Given the description of an element on the screen output the (x, y) to click on. 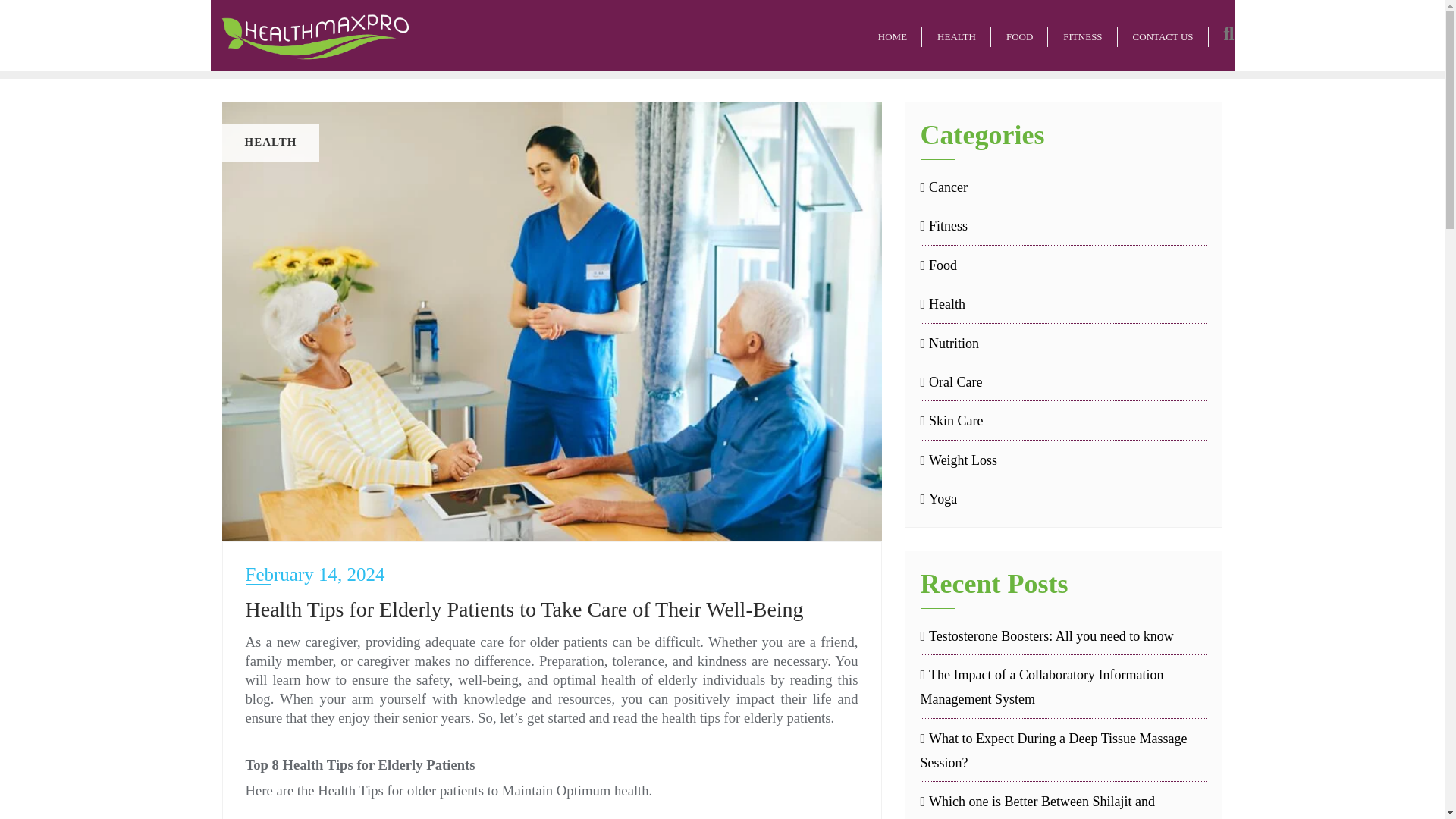
Cancer (944, 187)
Health (943, 303)
HOME (892, 34)
Oral Care (951, 381)
Testosterone Boosters: All you need to know (1063, 635)
Fitness (944, 225)
FITNESS (1082, 34)
Which one is Better Between Shilajit and Ashwagandha? (1063, 804)
The Impact of a Collaboratory Information Management System (1063, 686)
FOOD (1019, 34)
Food (939, 265)
Yoga (939, 498)
What to Expect During a Deep Tissue Massage Session? (1063, 750)
CONTACT US (1163, 34)
Weight Loss (958, 459)
